Given the description of an element on the screen output the (x, y) to click on. 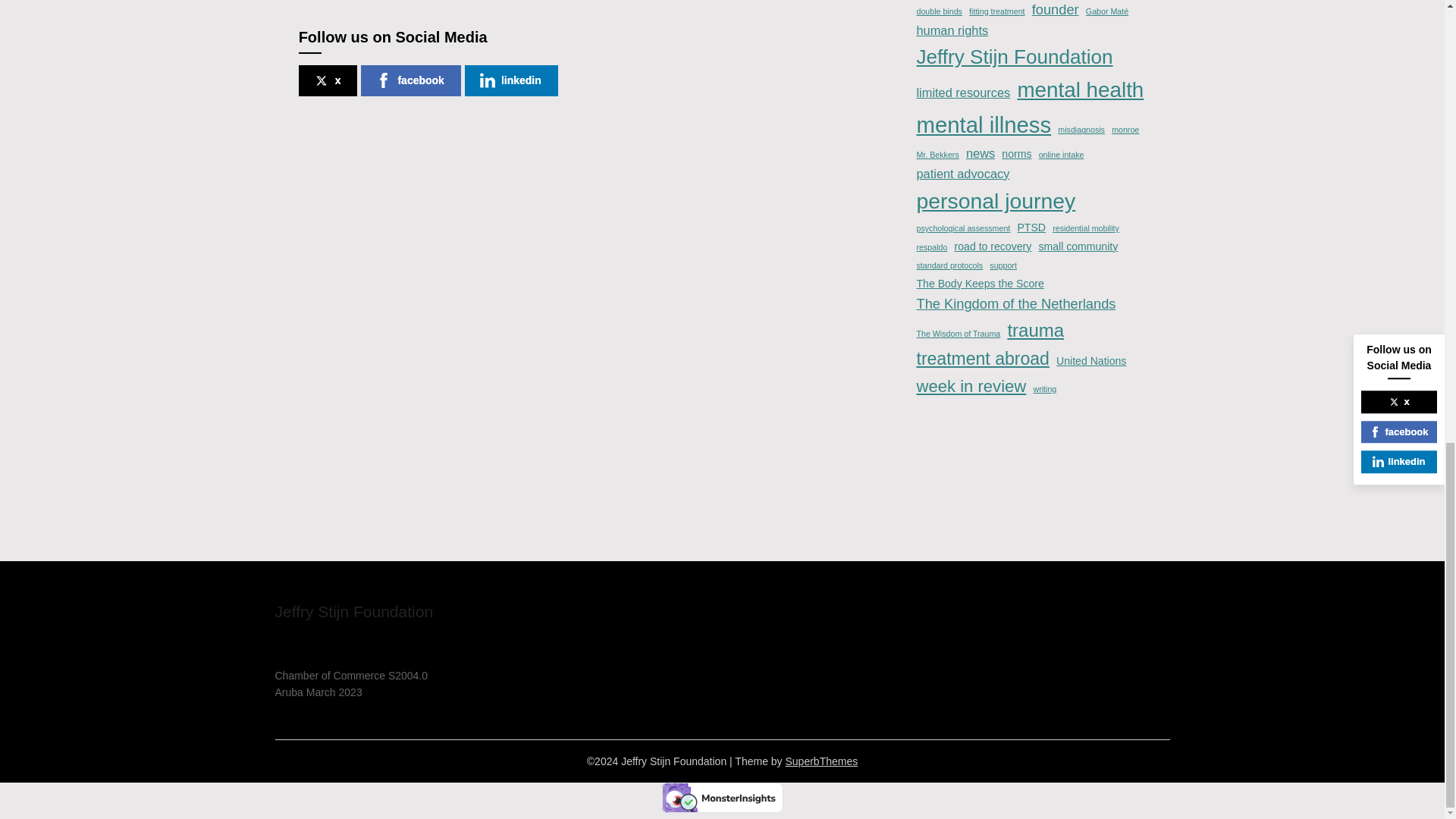
Verified by MonsterInsights (722, 797)
